Given the description of an element on the screen output the (x, y) to click on. 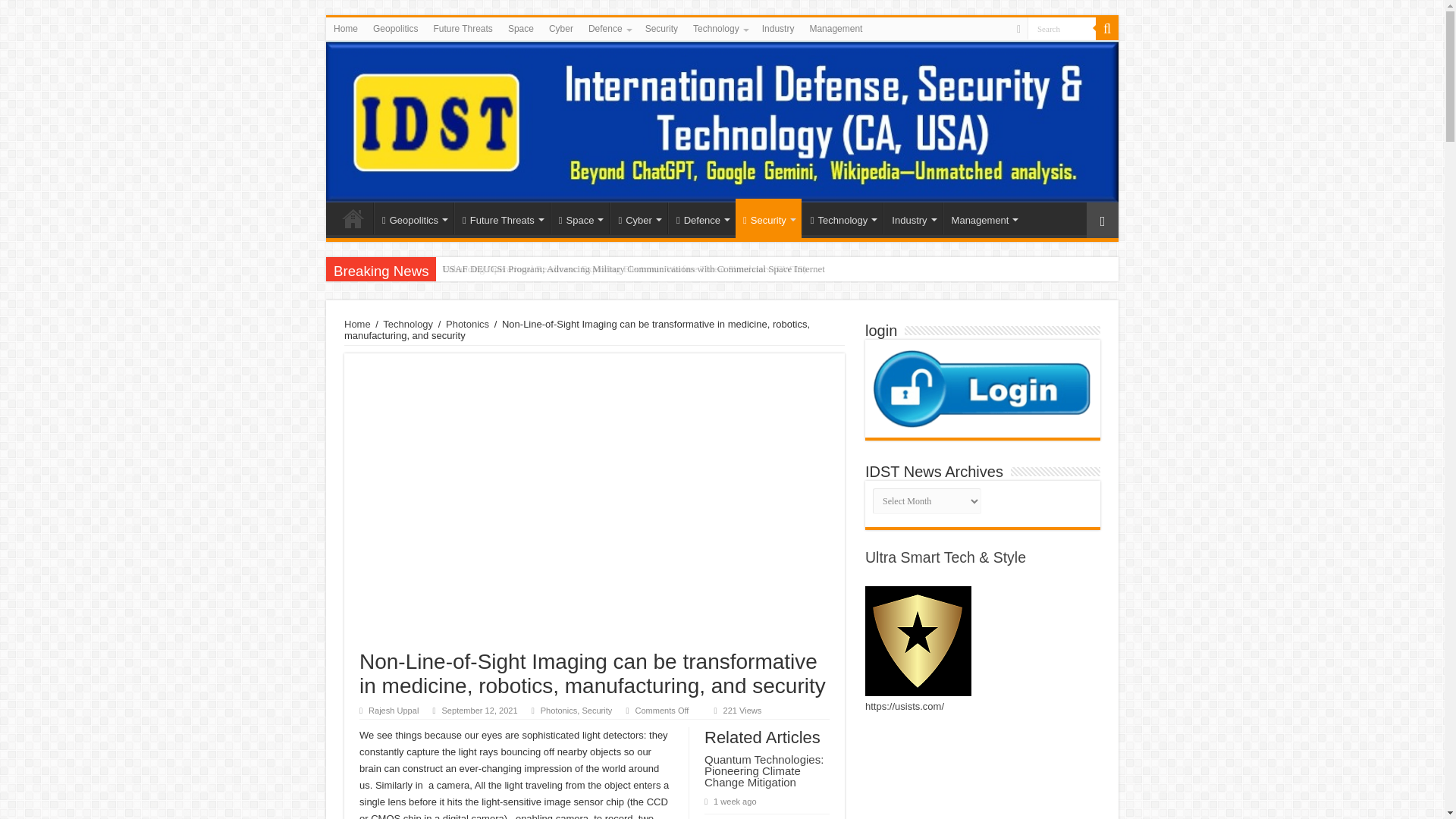
Search (1061, 28)
Search (1061, 28)
Search (1061, 28)
Future Threats (462, 28)
Space (520, 28)
Cyber (560, 28)
Defence (608, 28)
Home (345, 28)
Geopolitics (395, 28)
